Given the description of an element on the screen output the (x, y) to click on. 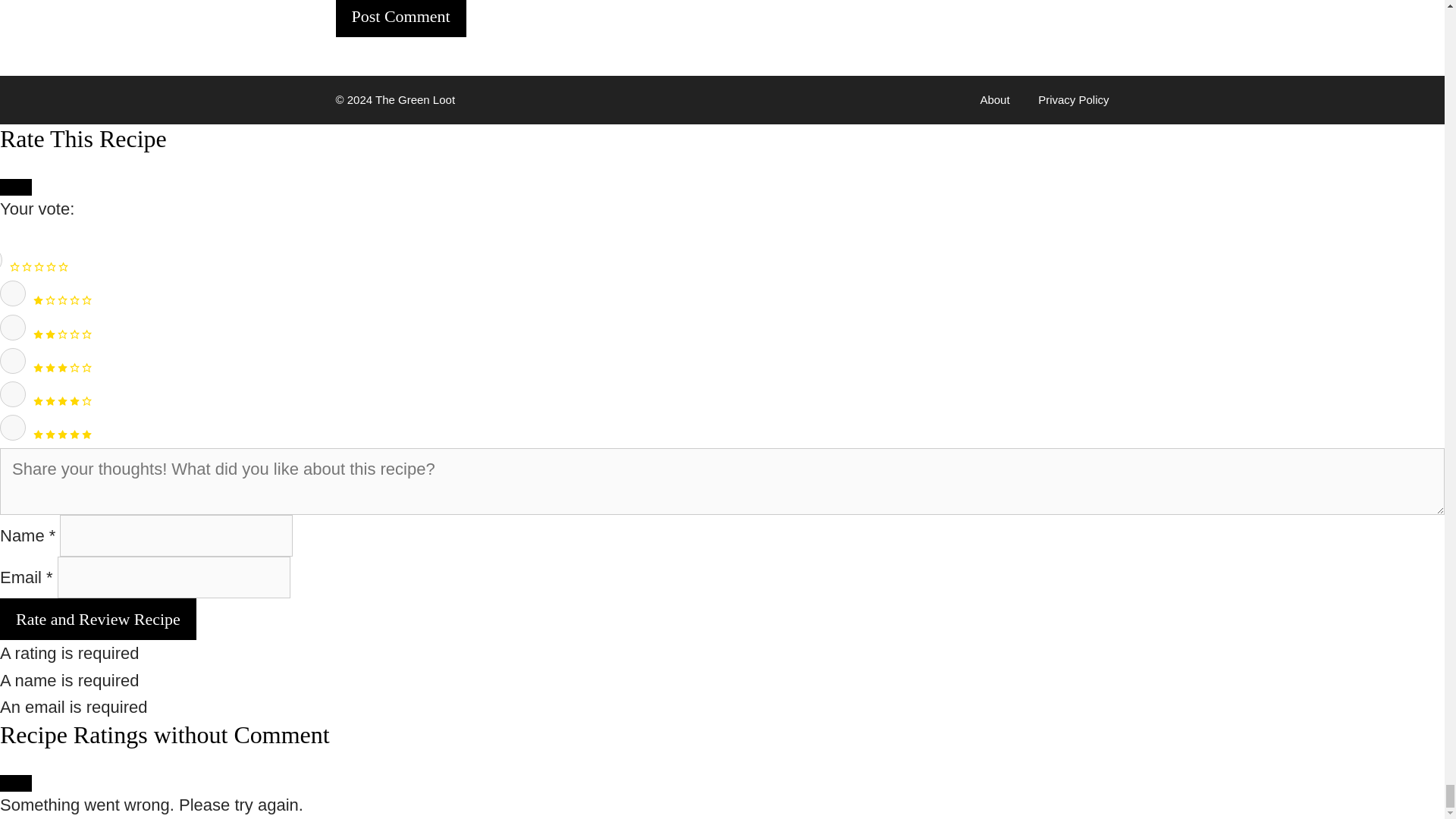
4 (13, 394)
1 (13, 293)
3 (13, 360)
2 (13, 327)
Post Comment (399, 18)
5 (13, 427)
